Given the description of an element on the screen output the (x, y) to click on. 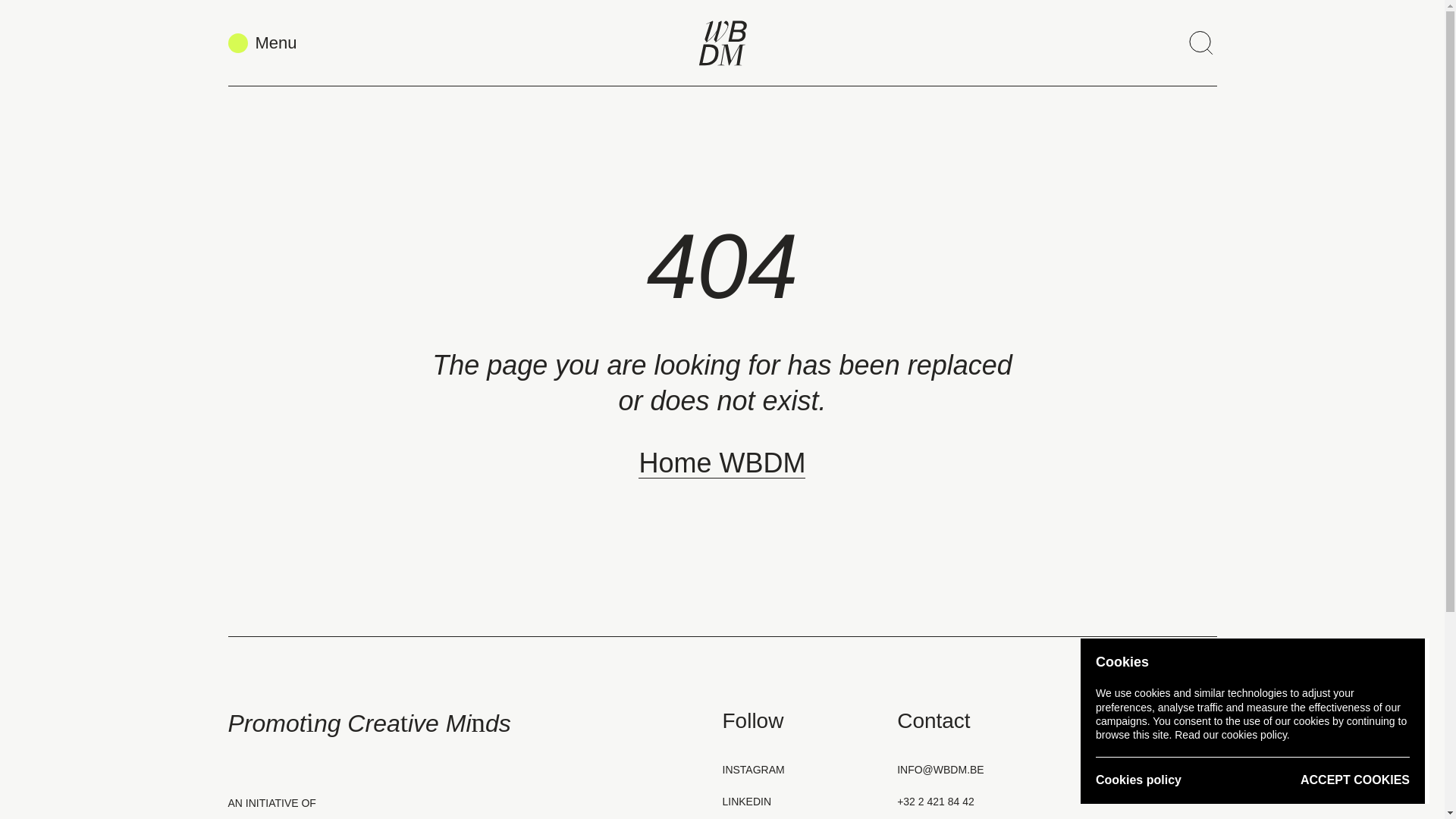
LINKEDIN (746, 801)
Subscribe (1160, 781)
Search (1200, 42)
Home WBDM (722, 462)
Close (1200, 66)
Menu (262, 43)
INSTAGRAM (753, 769)
ACCEPT COOKIES (1354, 780)
